Given the description of an element on the screen output the (x, y) to click on. 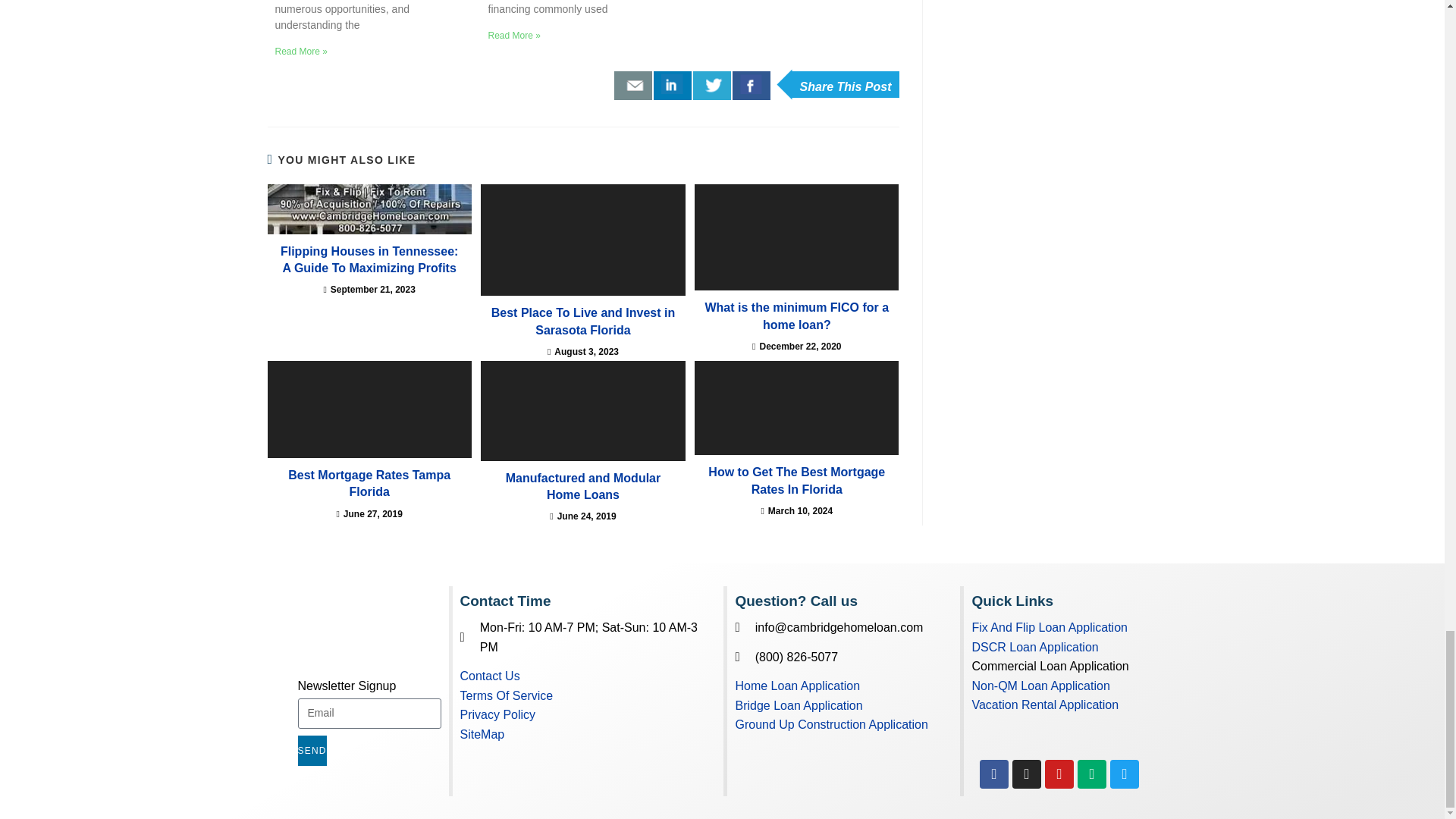
Flipping Houses in Tennessee: A Guide To Maximizing Profits (368, 209)
How to Get The Best Mortgage Rates In Florida (796, 408)
Share On Facebook (751, 85)
What is the minimum FICO for a home loan? (796, 237)
Best Mortgage Rates Tampa Florida (368, 409)
Manufactured and Modular Home Loans (582, 411)
Share This Post (844, 84)
Share On Twitter (711, 85)
Contact us (633, 85)
Best Place To Live and Invest in Sarasota Florida (582, 239)
